Given the description of an element on the screen output the (x, y) to click on. 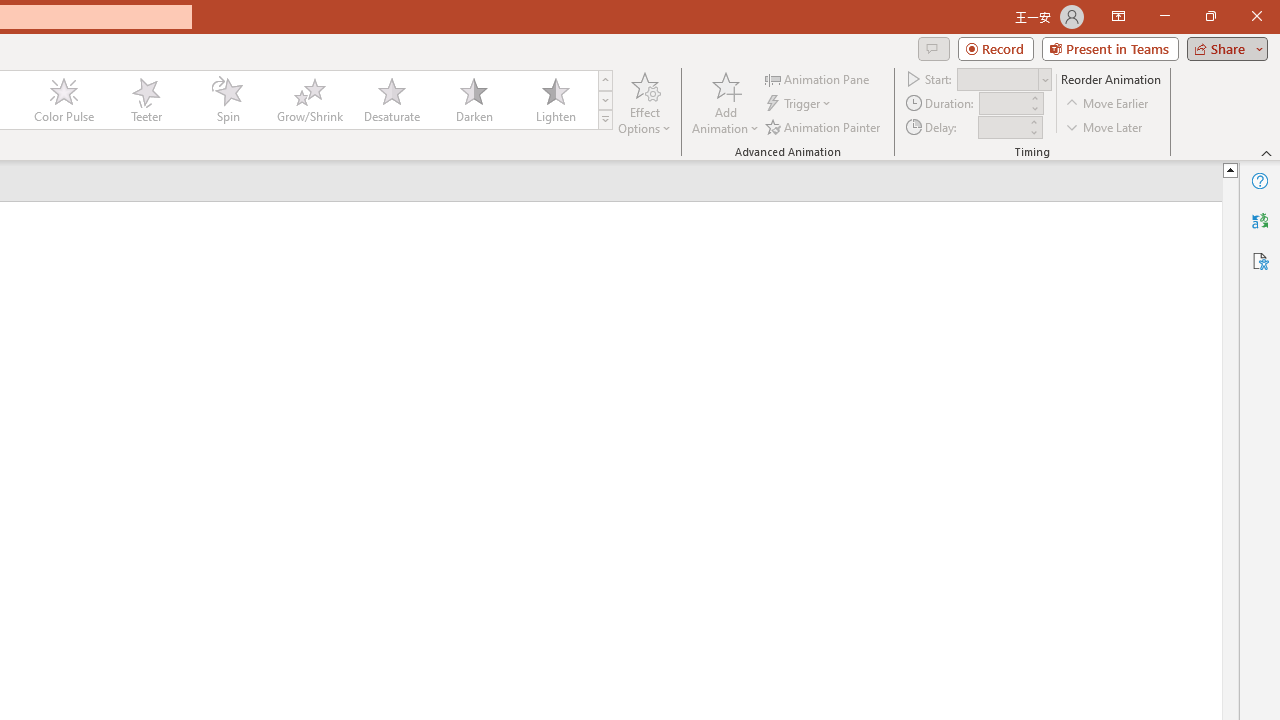
Move Earlier (1107, 103)
Trigger (799, 103)
Color Pulse (63, 100)
Animation Painter (824, 126)
Animation Pane (818, 78)
Animation Delay (1002, 127)
Effect Options (644, 102)
Less (1033, 132)
Move Later (1105, 126)
